Given the description of an element on the screen output the (x, y) to click on. 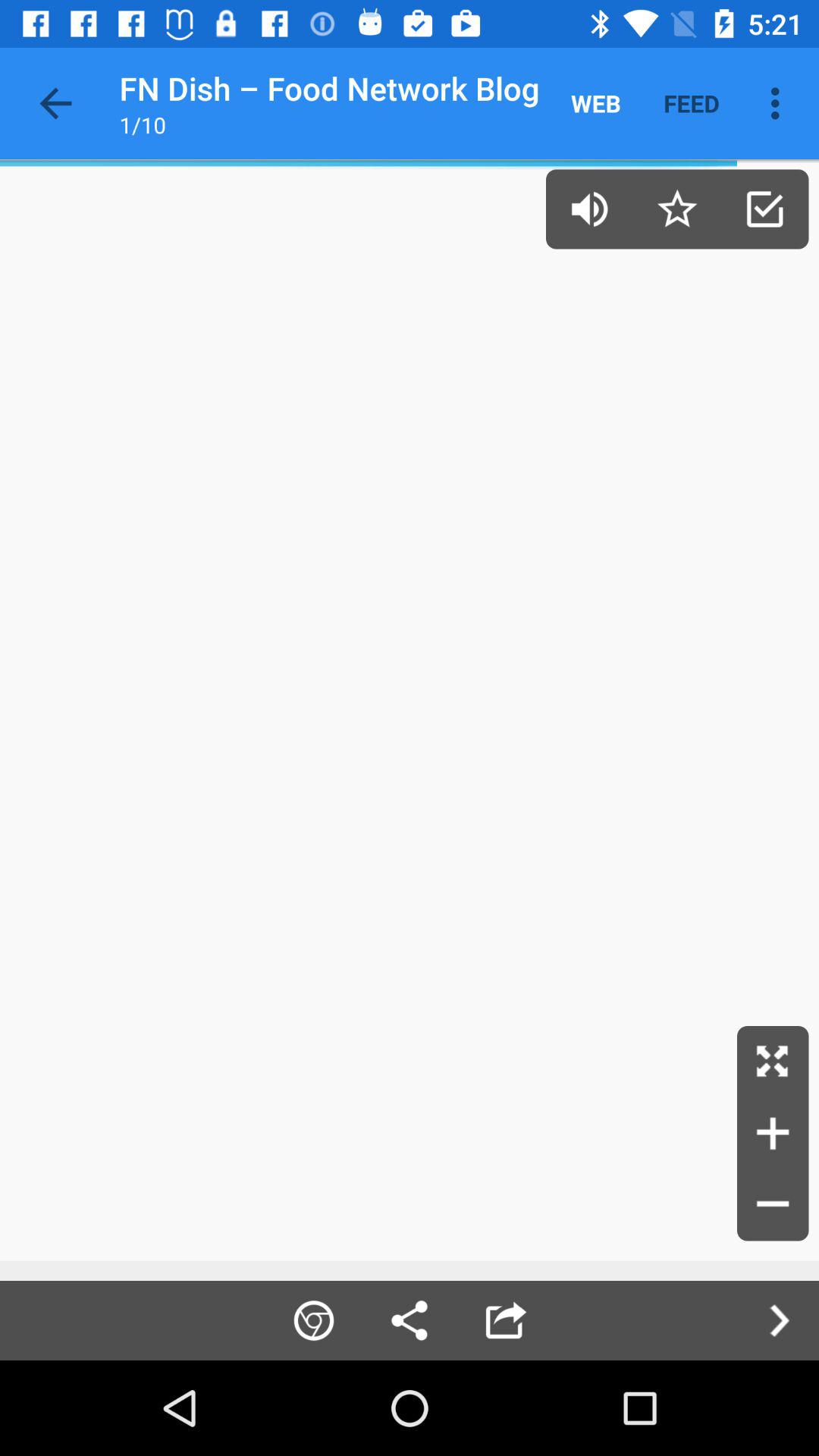
zoom out the page (772, 1205)
